Given the description of an element on the screen output the (x, y) to click on. 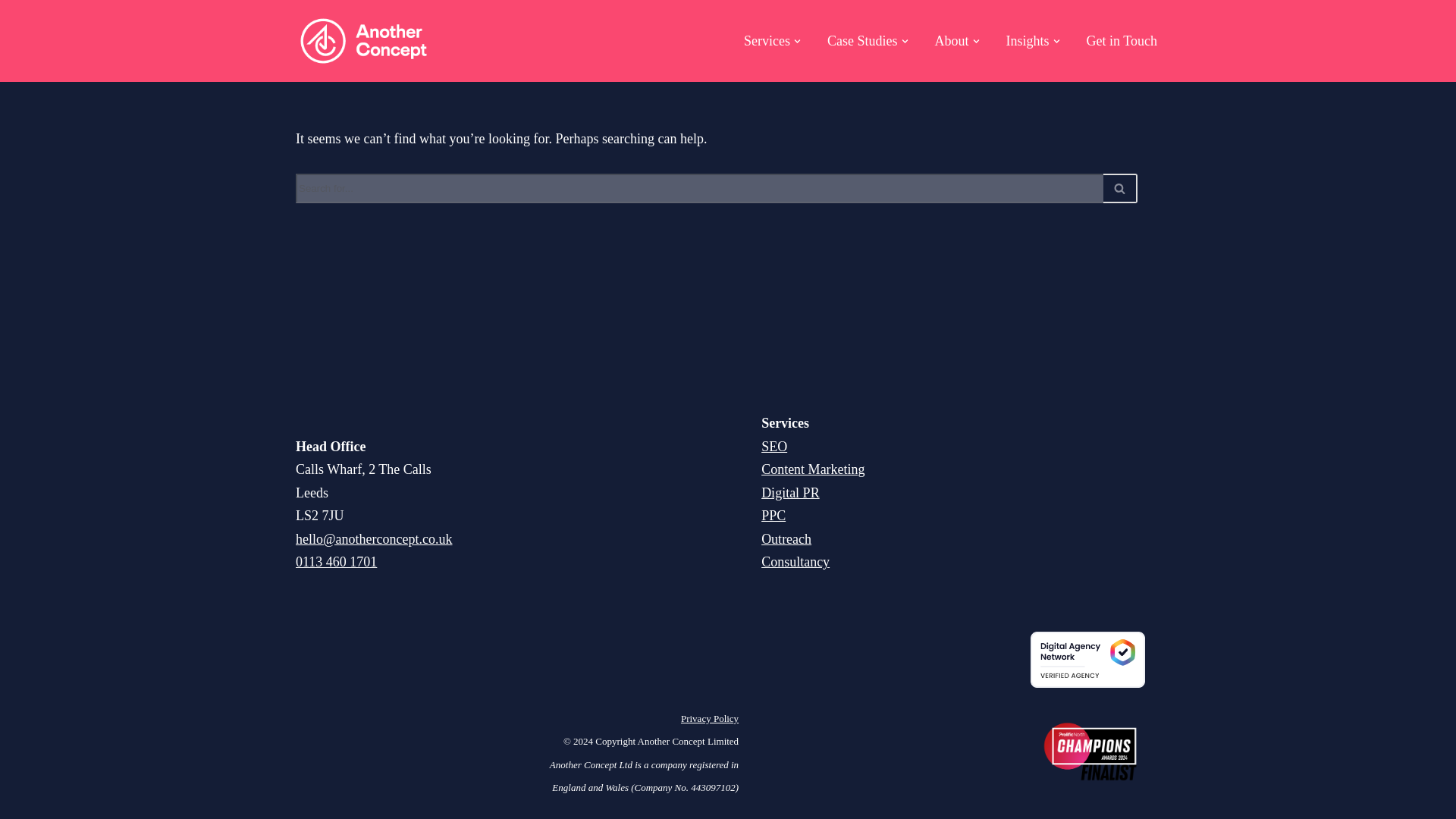
Get in Touch (1121, 40)
Services (767, 40)
Insights (1027, 40)
Case Studies (862, 40)
Skip to content (11, 31)
About (951, 40)
